Given the description of an element on the screen output the (x, y) to click on. 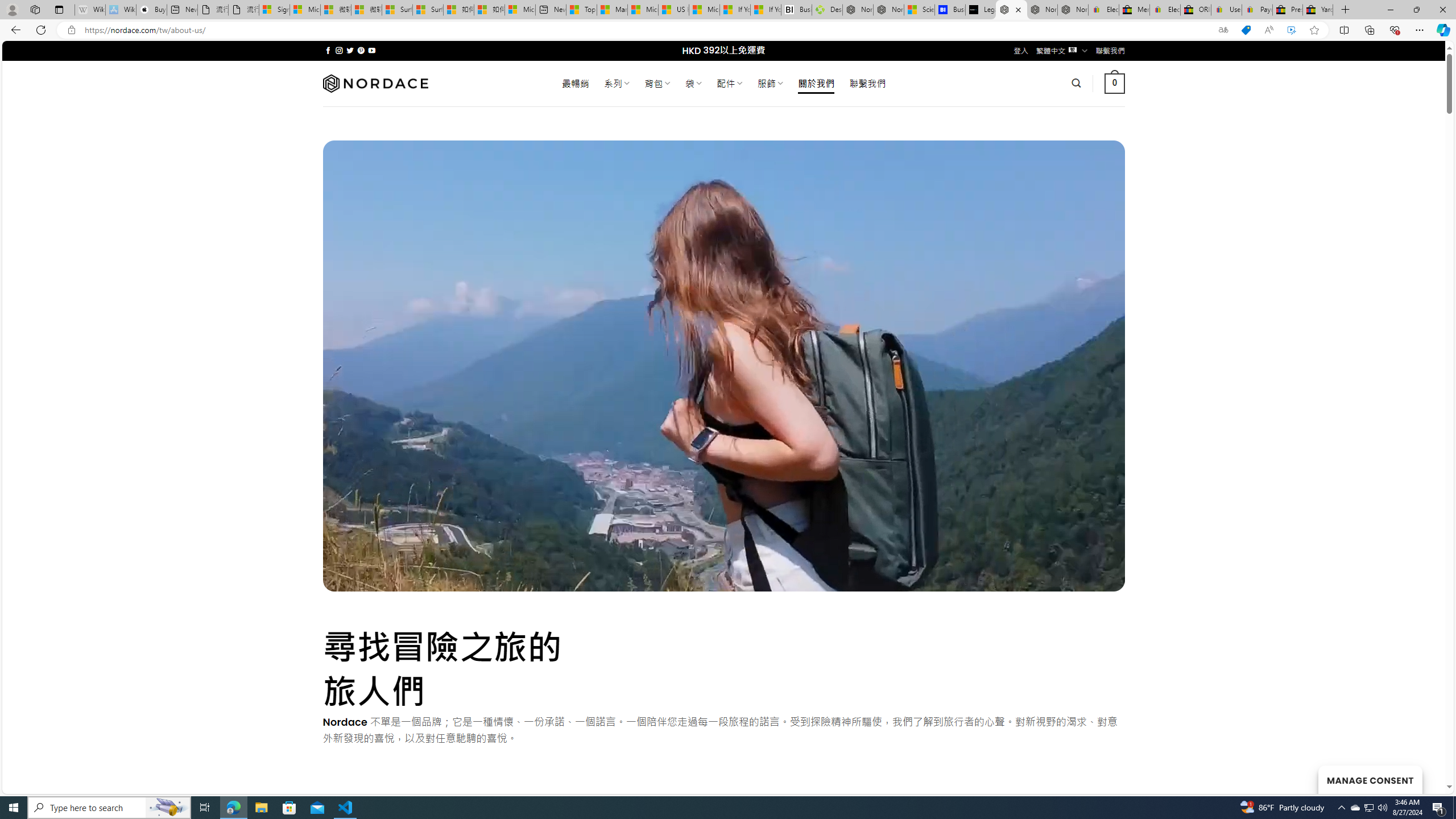
Follow on Pinterest (360, 50)
Follow on YouTube (371, 50)
